Given the description of an element on the screen output the (x, y) to click on. 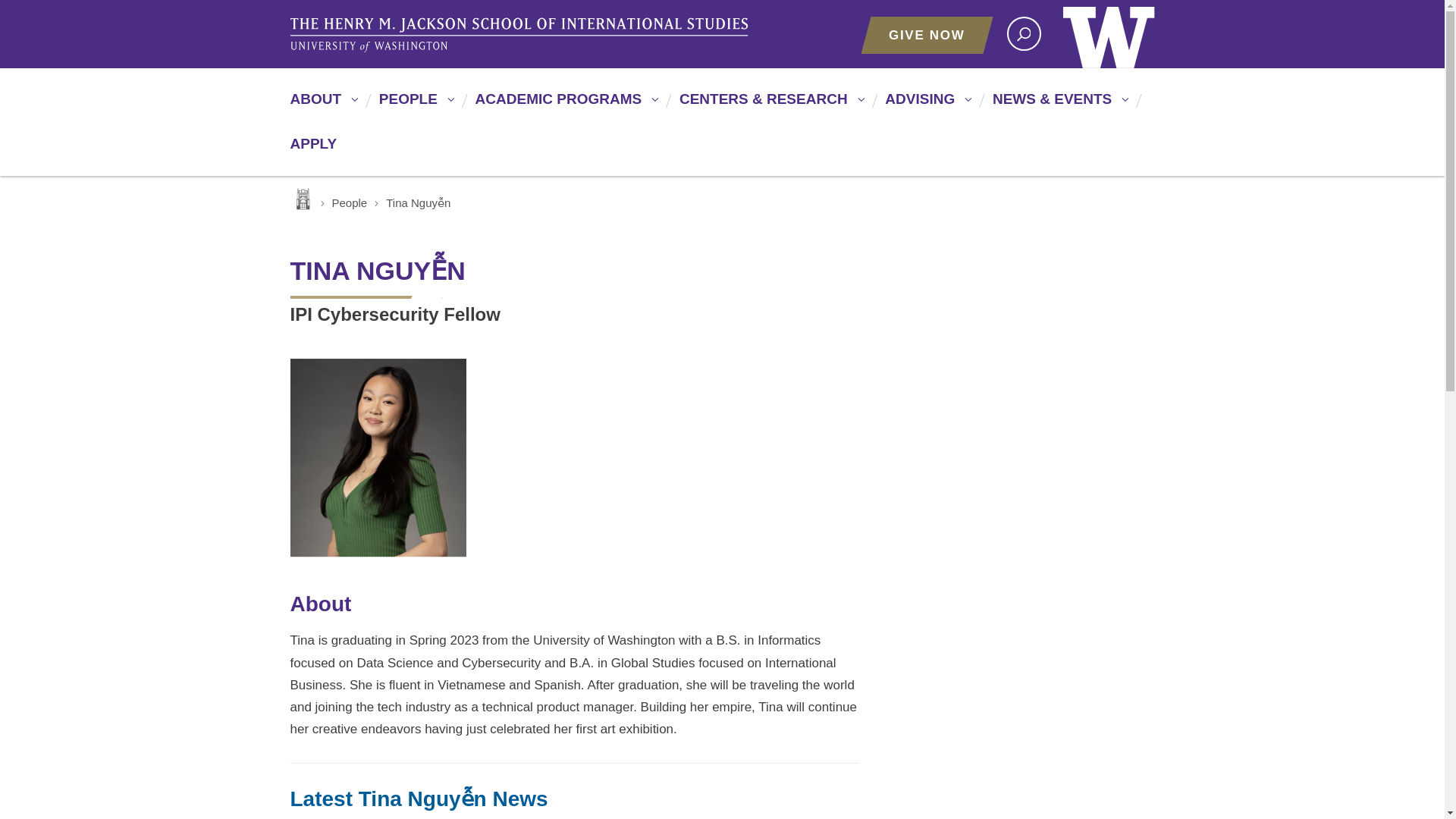
ABOUT (322, 105)
Advising (924, 105)
APPLY (312, 149)
People (414, 105)
University of Washington Home (1108, 33)
ACADEMIC PROGRAMS (564, 105)
About (322, 105)
PEOPLE (414, 105)
GIVE NOW (927, 35)
The Henry M. Jackson School of International Studies Home (520, 35)
ADVISING (924, 105)
Academic Programs (564, 105)
University of Washington (1108, 33)
